Given the description of an element on the screen output the (x, y) to click on. 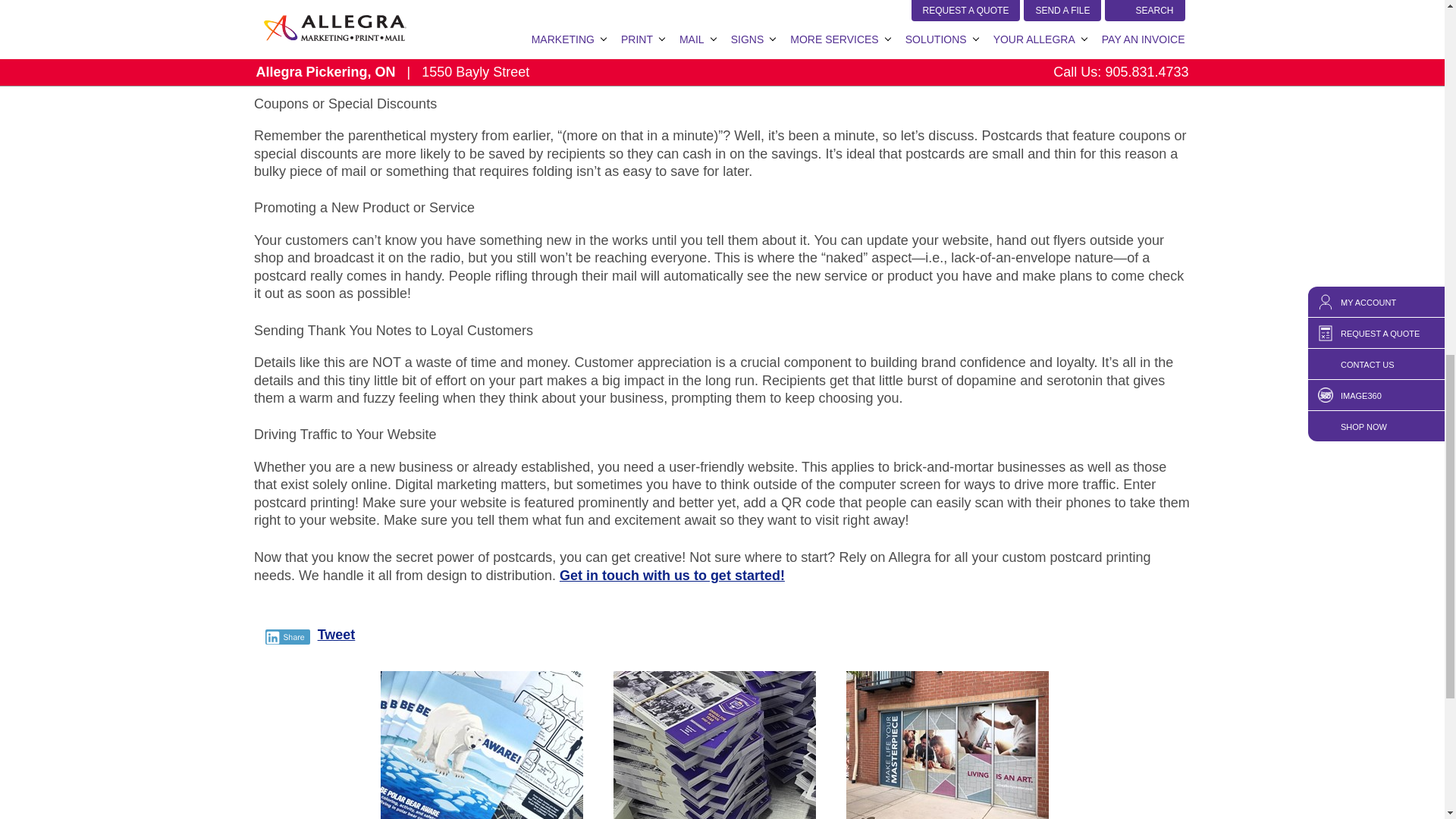
Submit Request (1009, 59)
